Given the description of an element on the screen output the (x, y) to click on. 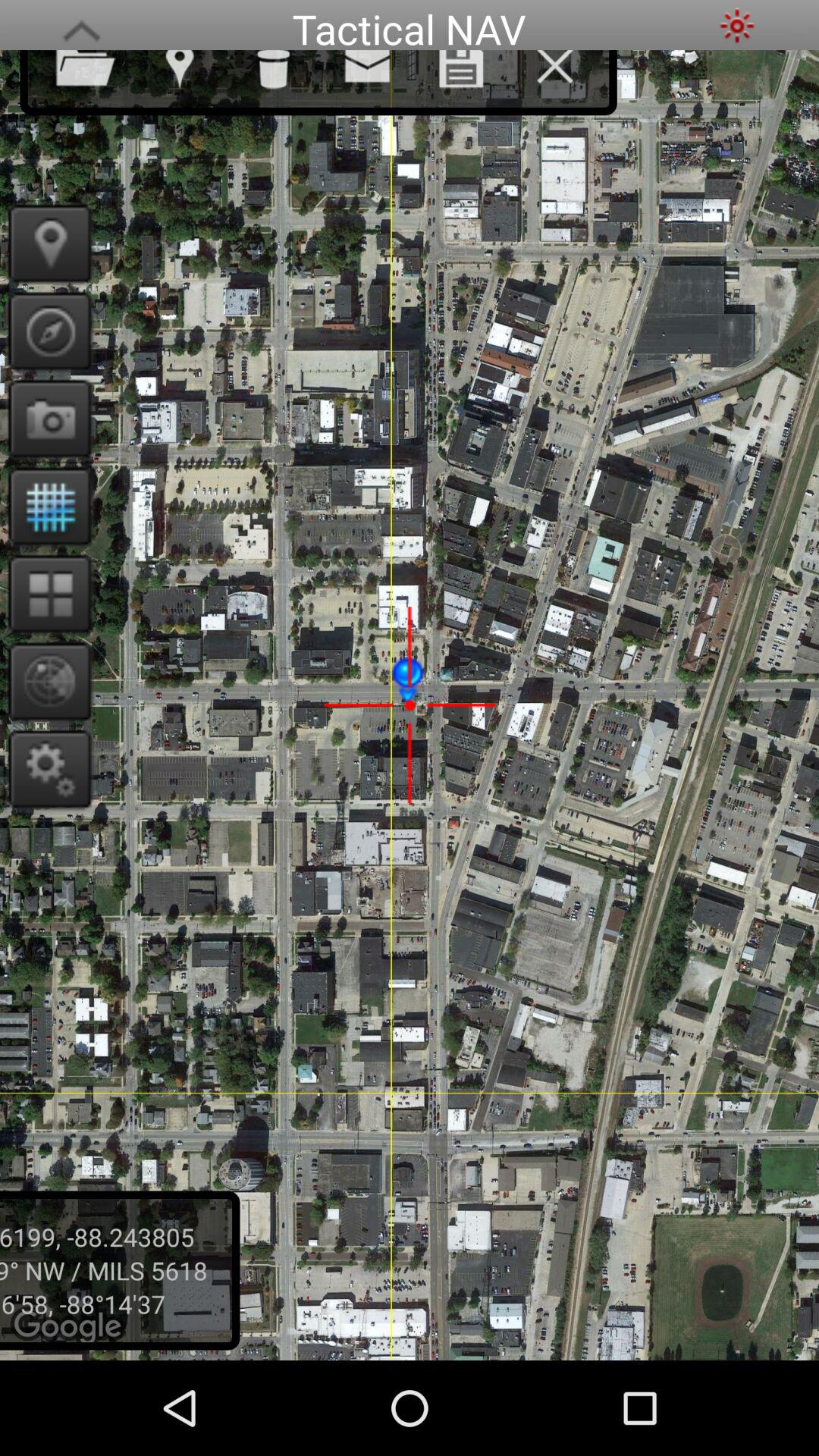
make scene bigger (81, 25)
